Given the description of an element on the screen output the (x, y) to click on. 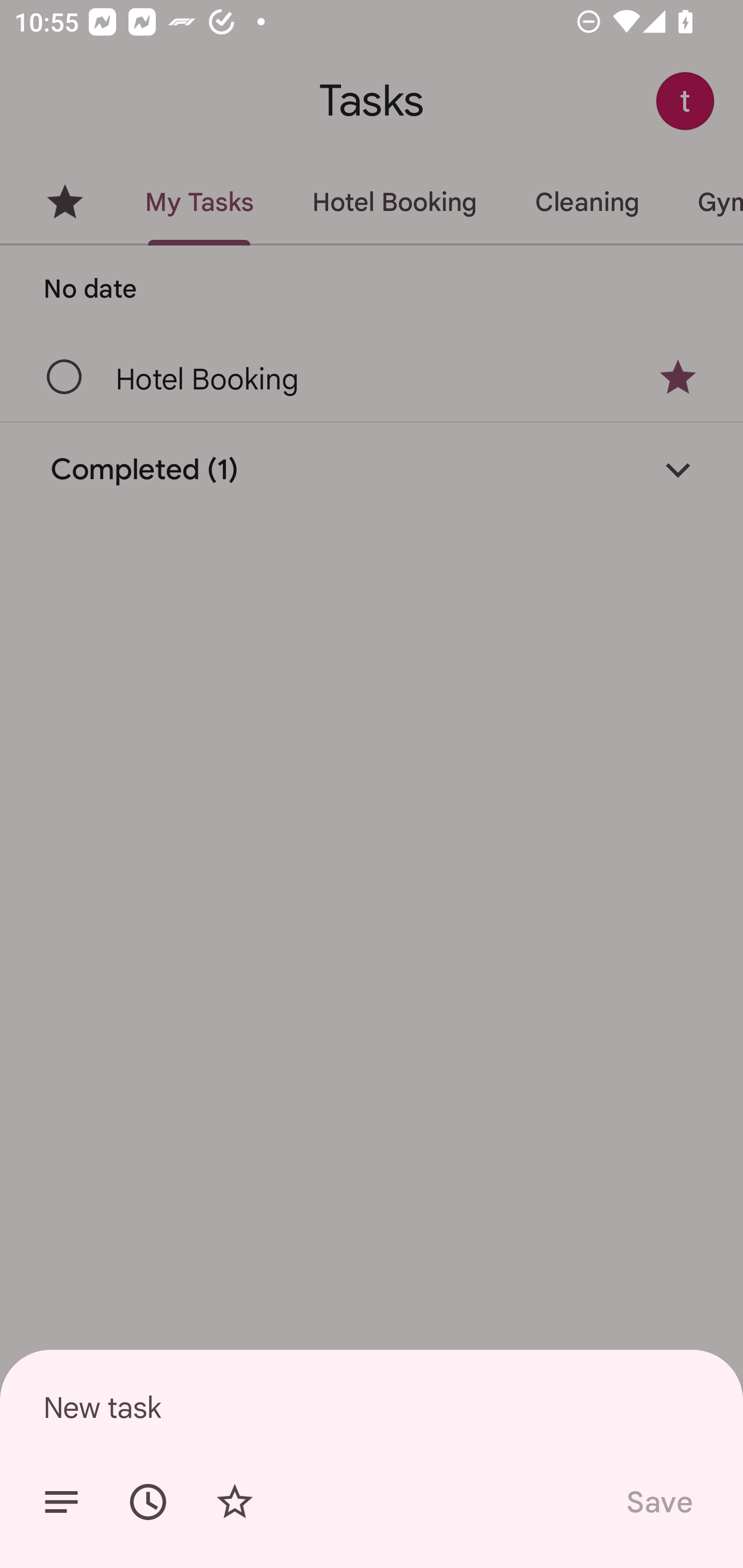
New task (371, 1407)
Save (659, 1501)
Add details (60, 1501)
Set date/time (147, 1501)
Add star (234, 1501)
